Given the description of an element on the screen output the (x, y) to click on. 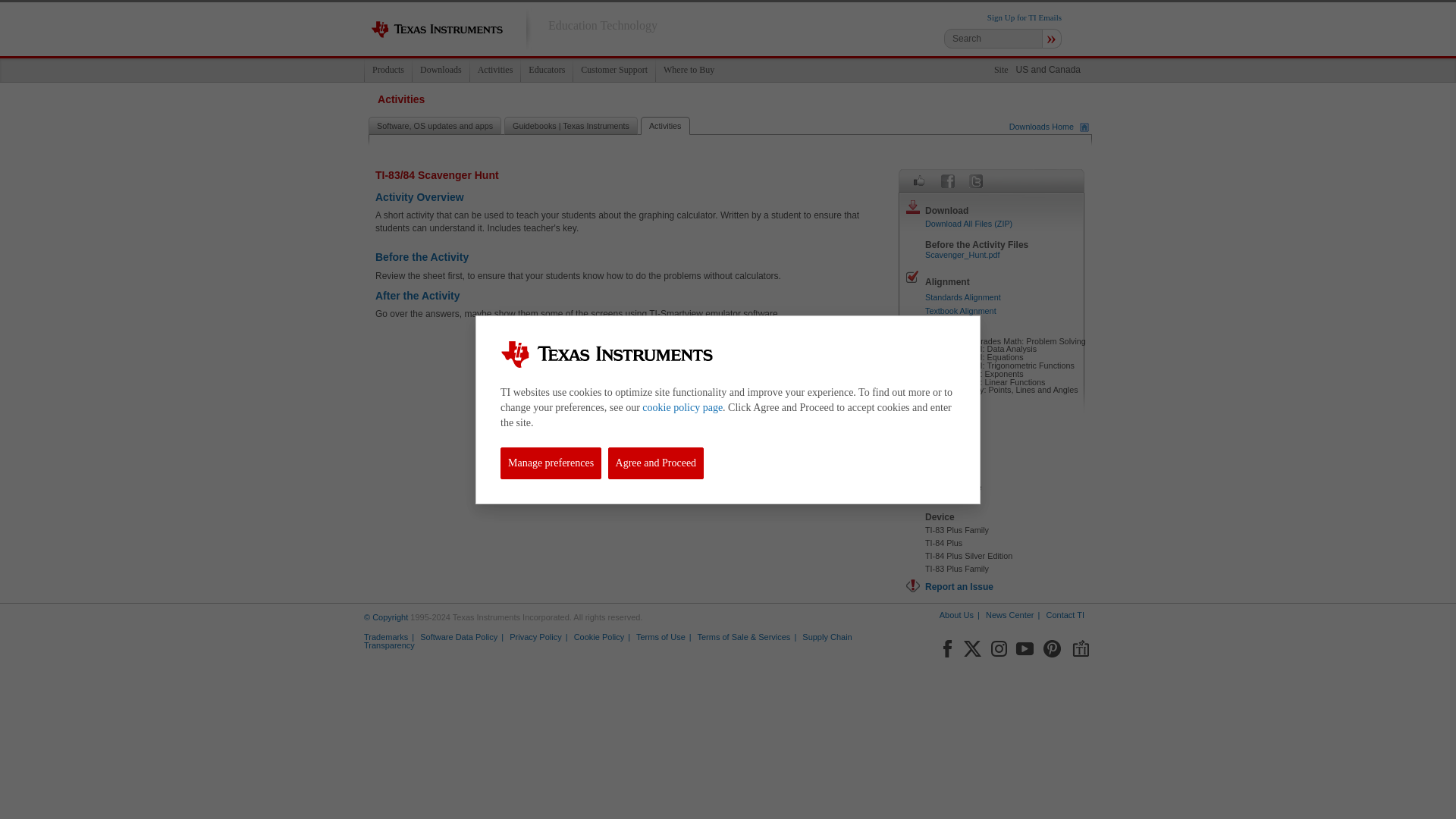
Pinterest (1052, 645)
Twitter (972, 645)
Sign Up for TI Emails (1024, 17)
Facebook (946, 645)
Educators (545, 69)
Instagram (998, 645)
YouTube (1025, 645)
Activities (494, 69)
Products (388, 69)
Recommend Activity (919, 180)
Downloads (440, 69)
Twitter (975, 180)
Facebook (947, 180)
